Given the description of an element on the screen output the (x, y) to click on. 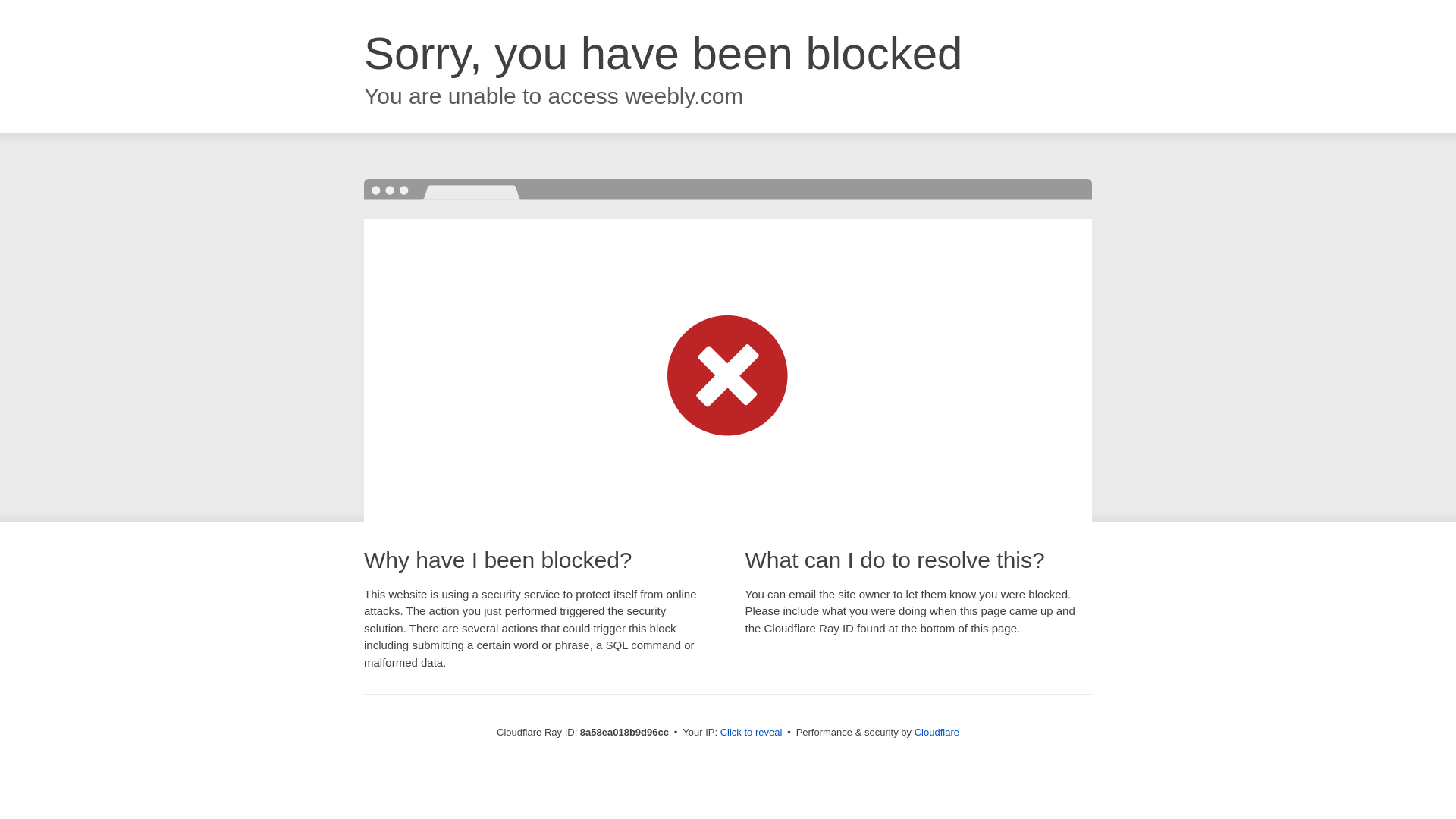
Click to reveal (751, 732)
Cloudflare (936, 731)
